Given the description of an element on the screen output the (x, y) to click on. 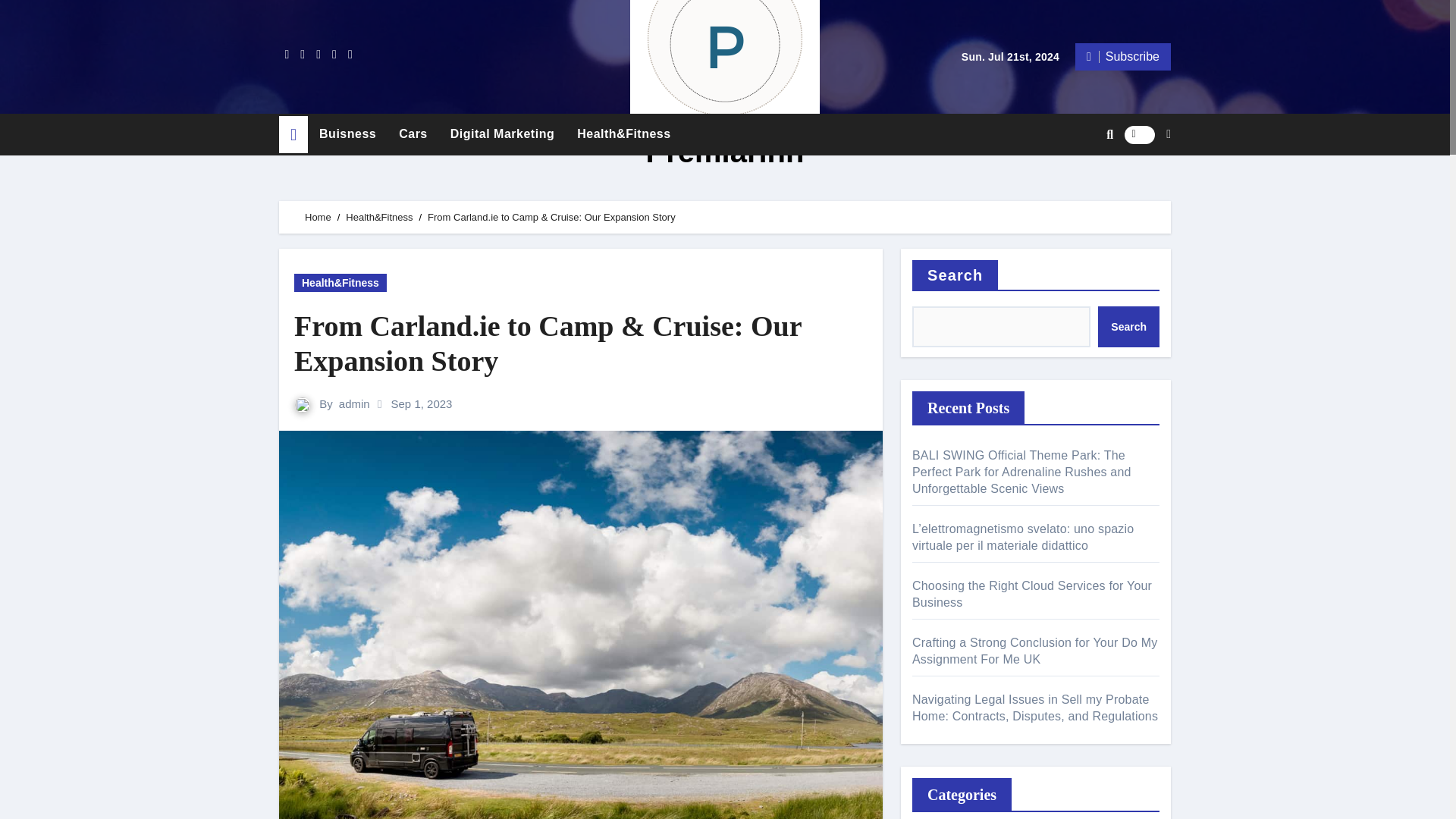
Digital Marketing (502, 134)
Digital Marketing (502, 134)
Cars (413, 134)
Subscribe (1122, 56)
Buisness (347, 134)
Cars (413, 134)
Buisness (347, 134)
admin (354, 403)
Premiarinn (724, 151)
Home (317, 216)
